Given the description of an element on the screen output the (x, y) to click on. 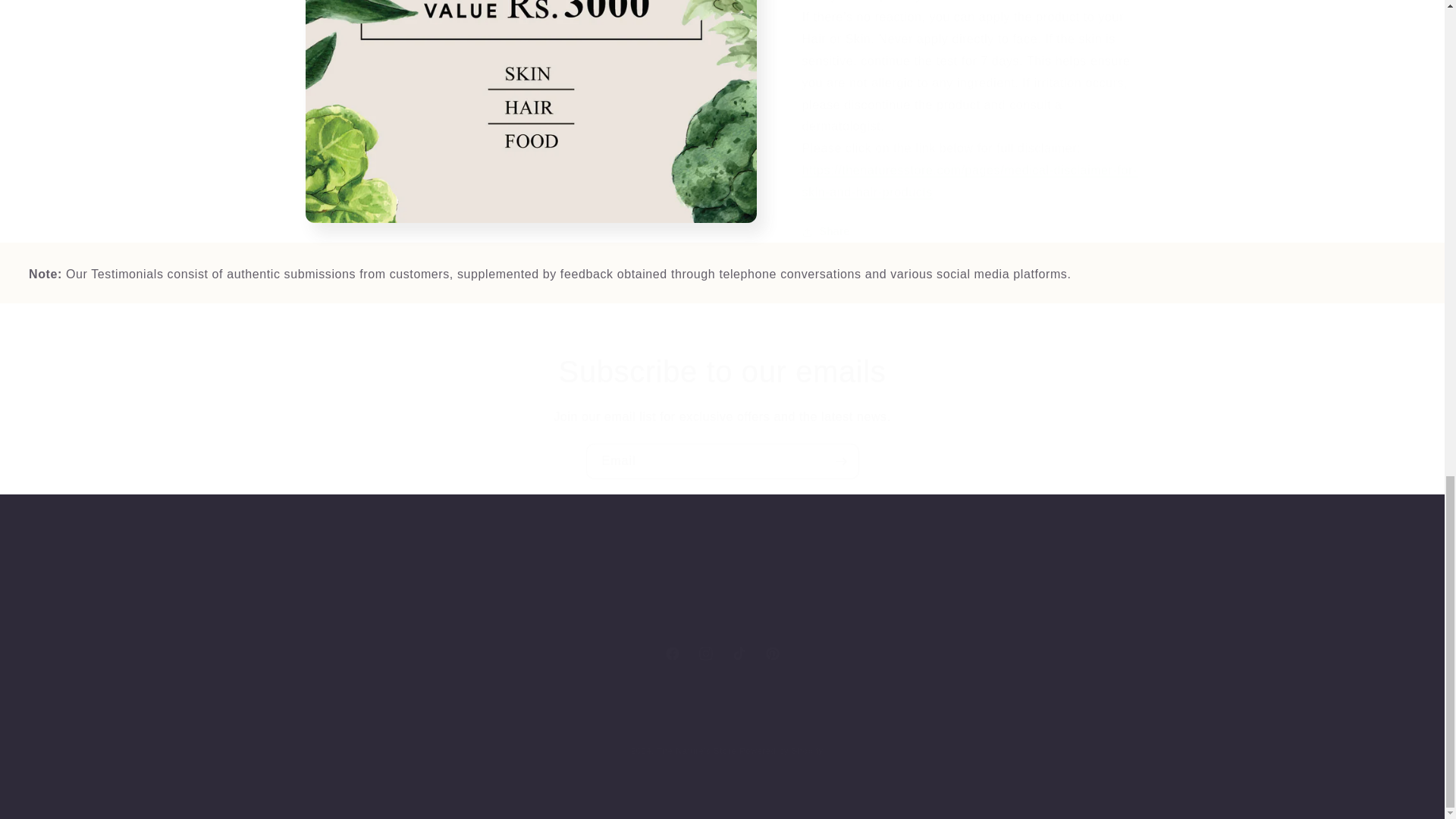
Email (722, 461)
Subscribe to our emails (721, 371)
